Given the description of an element on the screen output the (x, y) to click on. 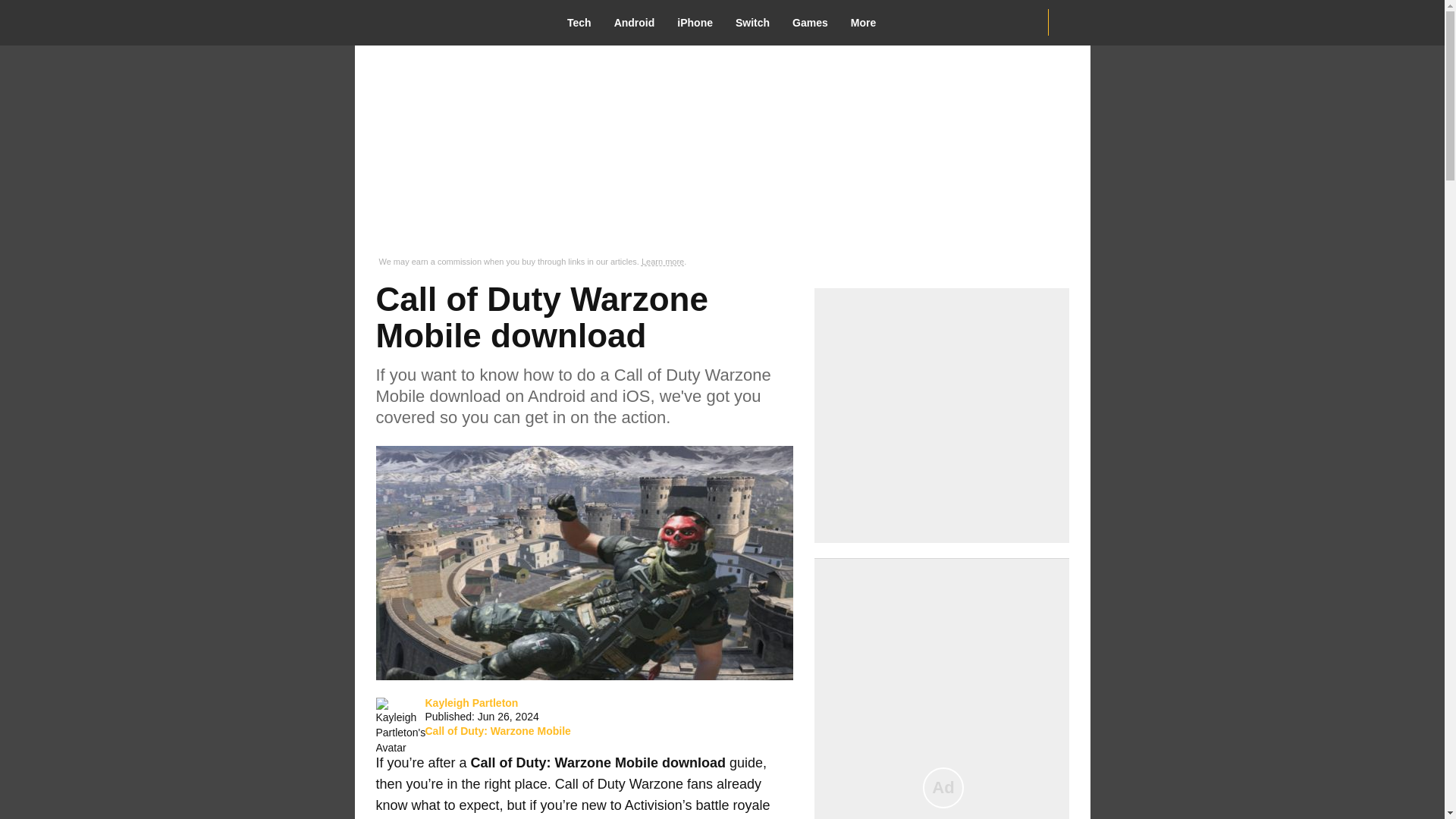
Kayleigh Partleton (471, 702)
Switch (757, 22)
Network N Media (1068, 22)
Games (816, 22)
Learn more (663, 261)
Call of Duty: Warzone Mobile (497, 730)
iPhone (700, 22)
Call of Duty Warzone Mobile download (584, 562)
Pocket Tactics (448, 22)
Android (640, 22)
